Given the description of an element on the screen output the (x, y) to click on. 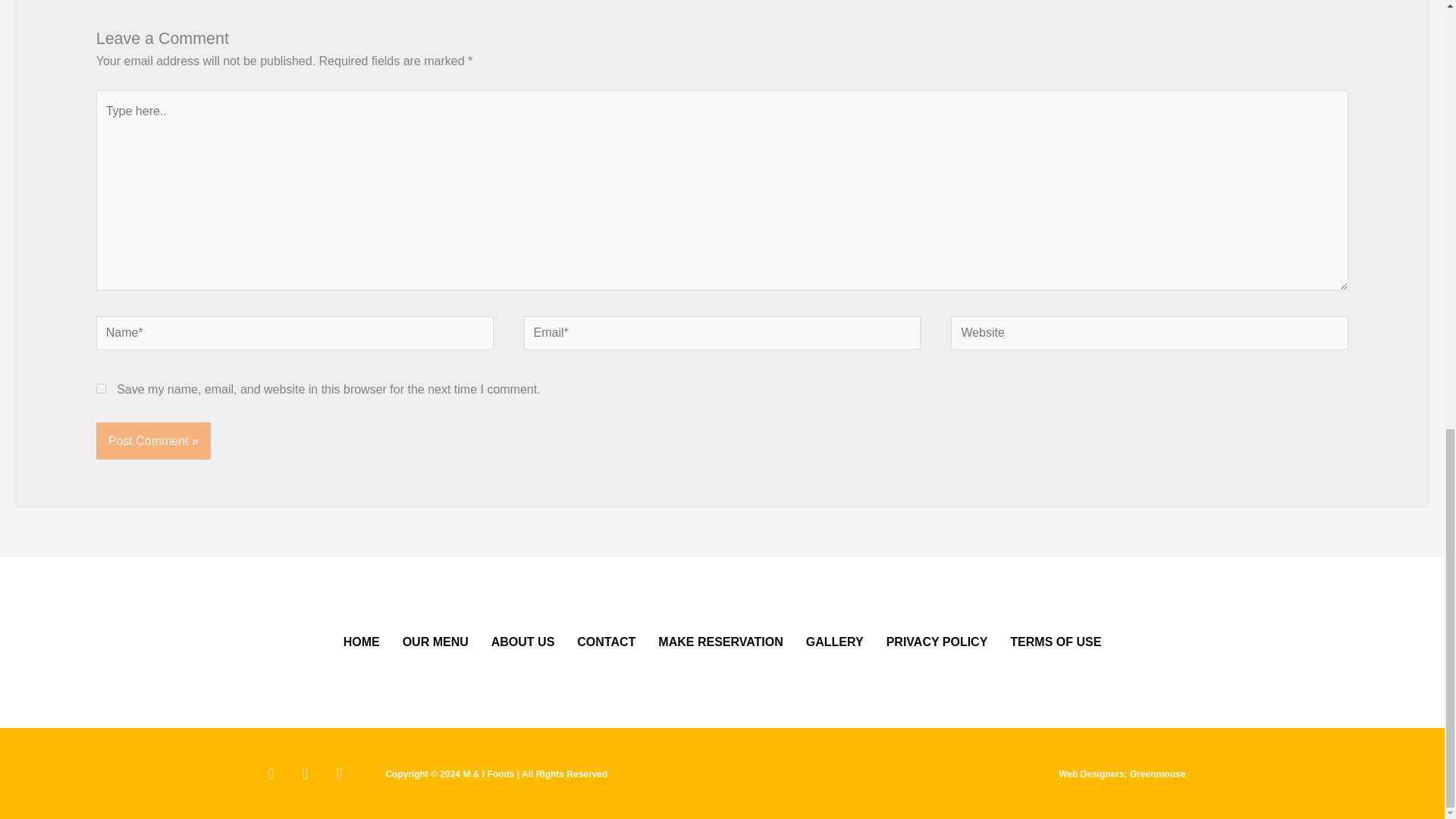
MAKE RESERVATION (719, 642)
PRIVACY POLICY (936, 642)
Facebook (271, 773)
OUR MENU (435, 642)
GALLERY (834, 642)
HOME (361, 642)
yes (101, 388)
ABOUT US (523, 642)
CONTACT (606, 642)
TERMS OF USE (1055, 642)
